Given the description of an element on the screen output the (x, y) to click on. 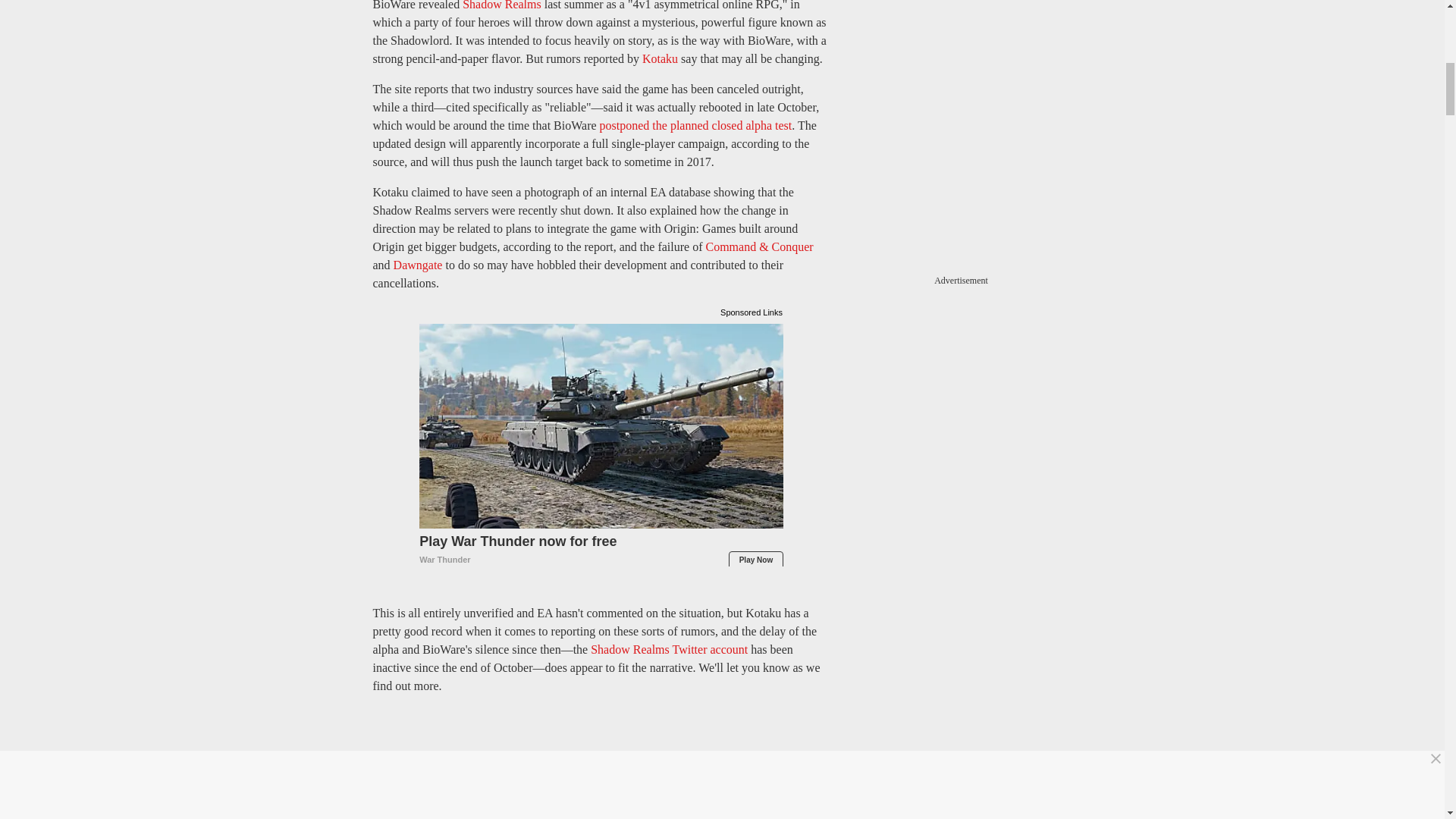
Play War Thunder now for free (601, 550)
